Given the description of an element on the screen output the (x, y) to click on. 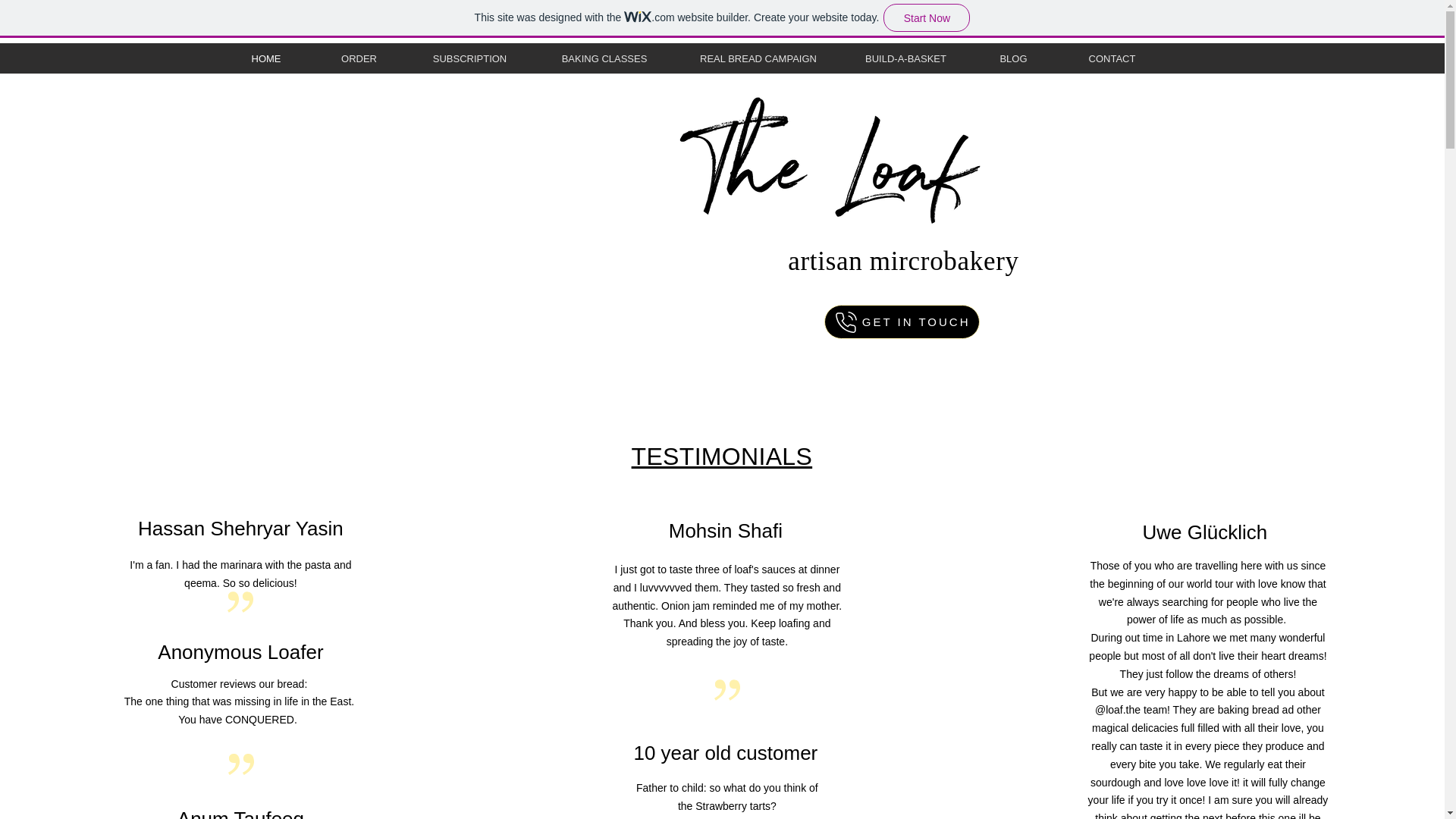
CONTACT (1111, 58)
BUILD-A-BASKET (905, 58)
BLOG (1013, 58)
HOME (266, 58)
REAL BREAD CAMPAIGN (759, 58)
BAKING CLASSES (604, 58)
SUBSCRIPTION (469, 58)
ORDER (358, 58)
GET IN TOUCH (901, 321)
